Given the description of an element on the screen output the (x, y) to click on. 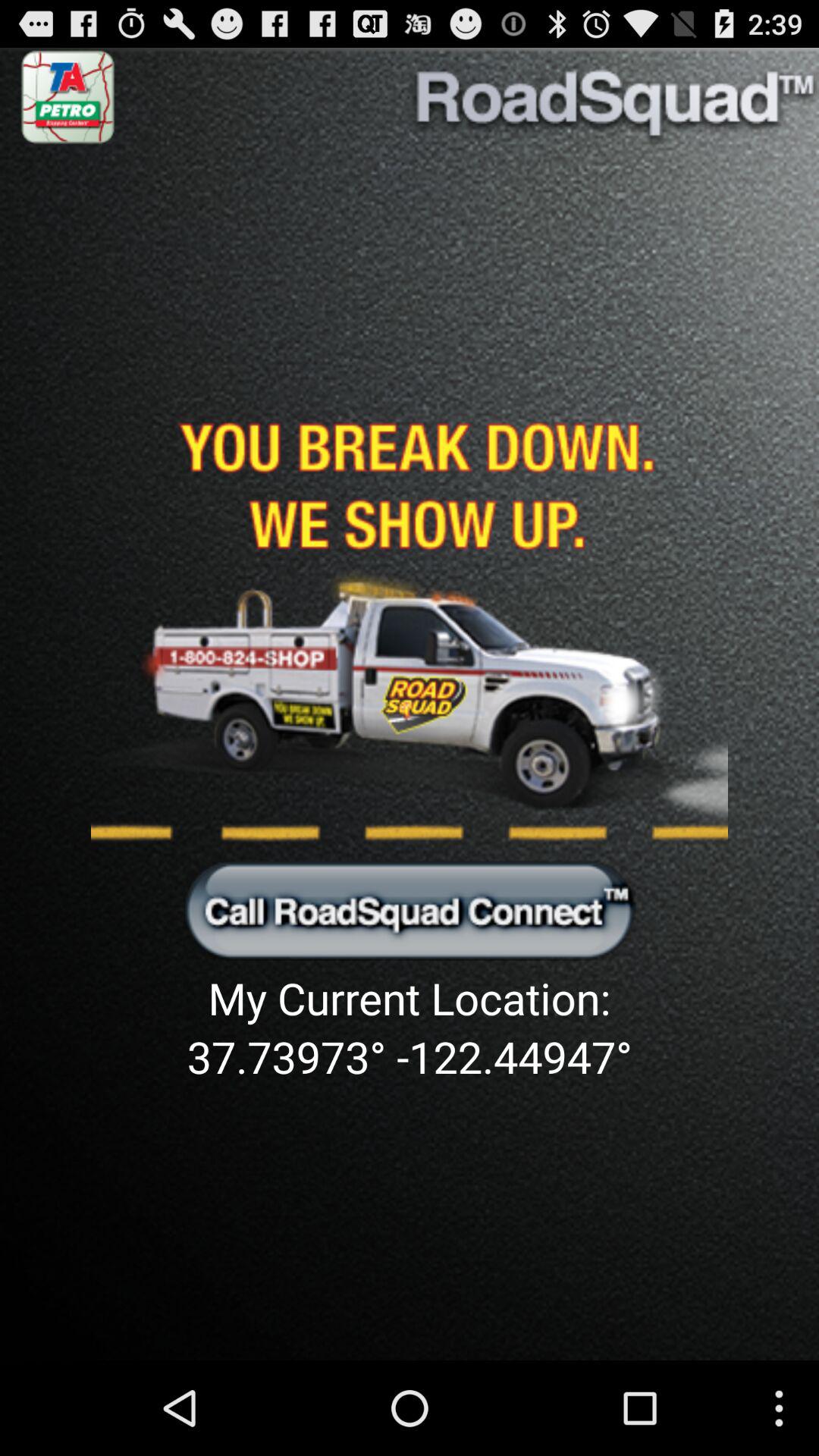
open the phone app and calls the roadsquad connect service (409, 909)
